Given the description of an element on the screen output the (x, y) to click on. 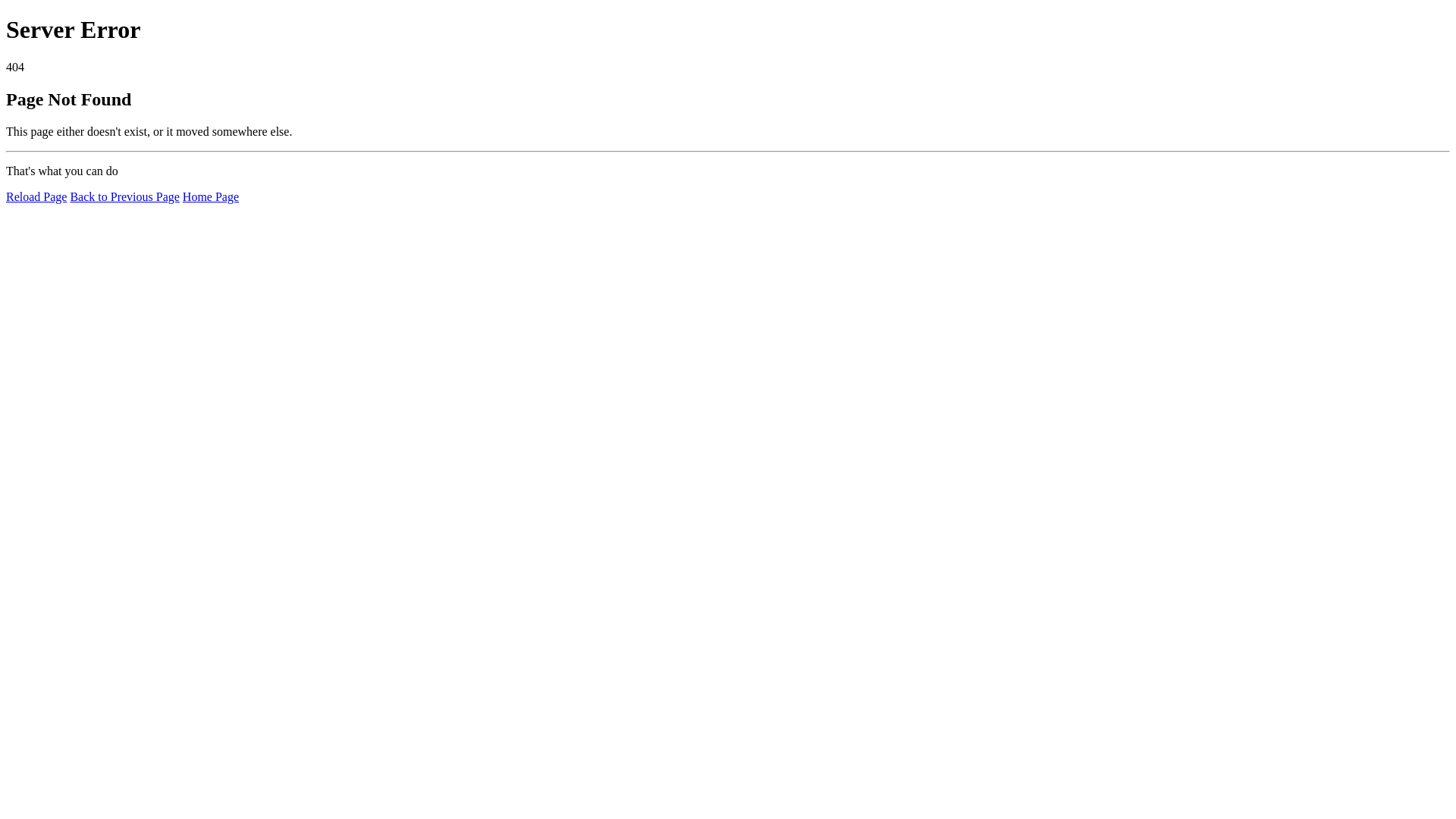
Back to Previous Page Element type: text (123, 196)
Home Page Element type: text (210, 196)
Reload Page Element type: text (36, 196)
